Given the description of an element on the screen output the (x, y) to click on. 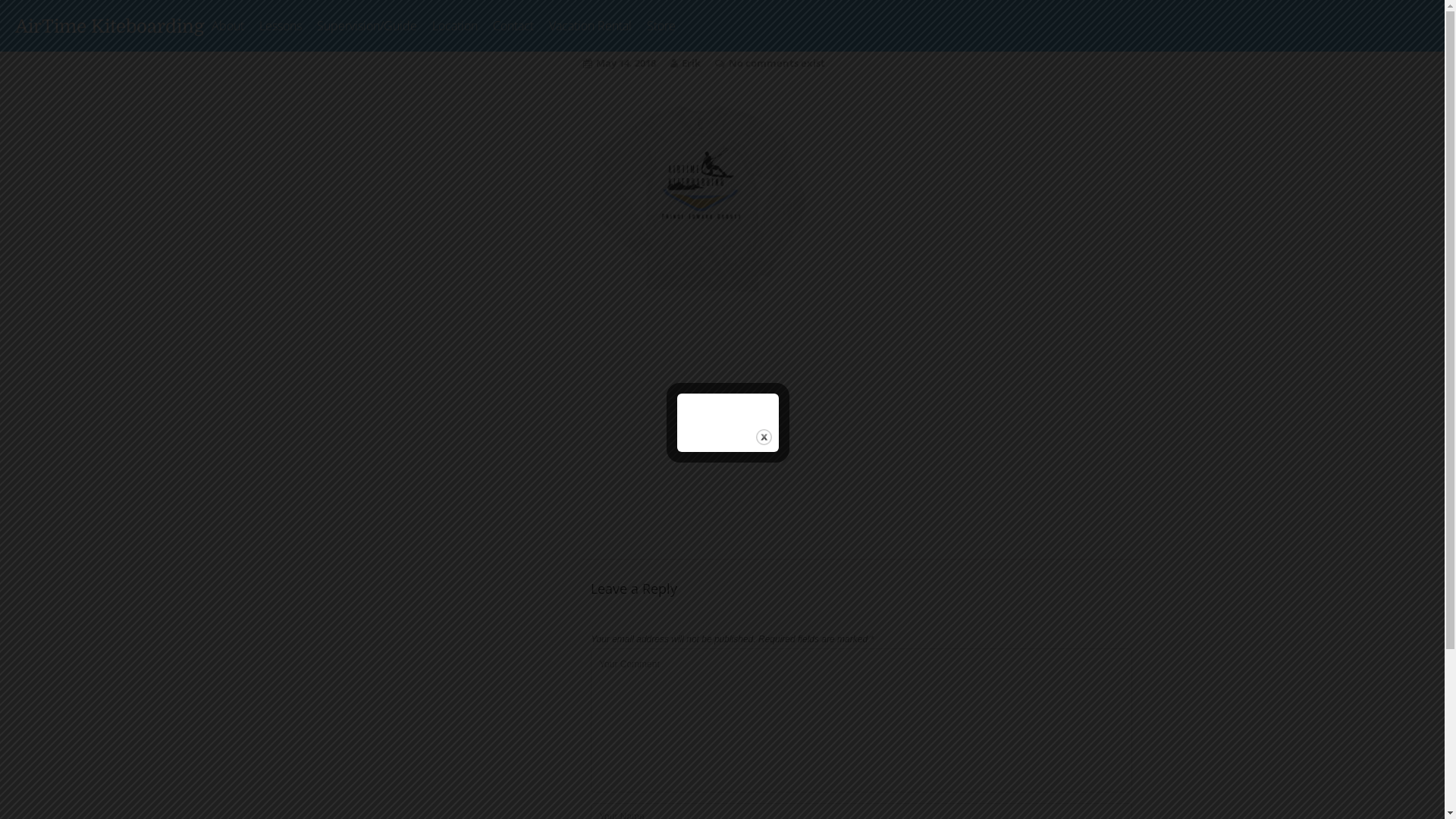
Contact Element type: text (513, 25)
Lessons Element type: text (280, 25)
Location Element type: text (454, 25)
Store Element type: text (661, 25)
Vacation Rental Element type: text (590, 25)
No comments exist Element type: text (776, 62)
AirTime Kiteboarding Element type: text (109, 26)
Supervision/Guide Element type: text (366, 25)
Advertisement Element type: hover (861, 429)
About Element type: text (227, 25)
